Given the description of an element on the screen output the (x, y) to click on. 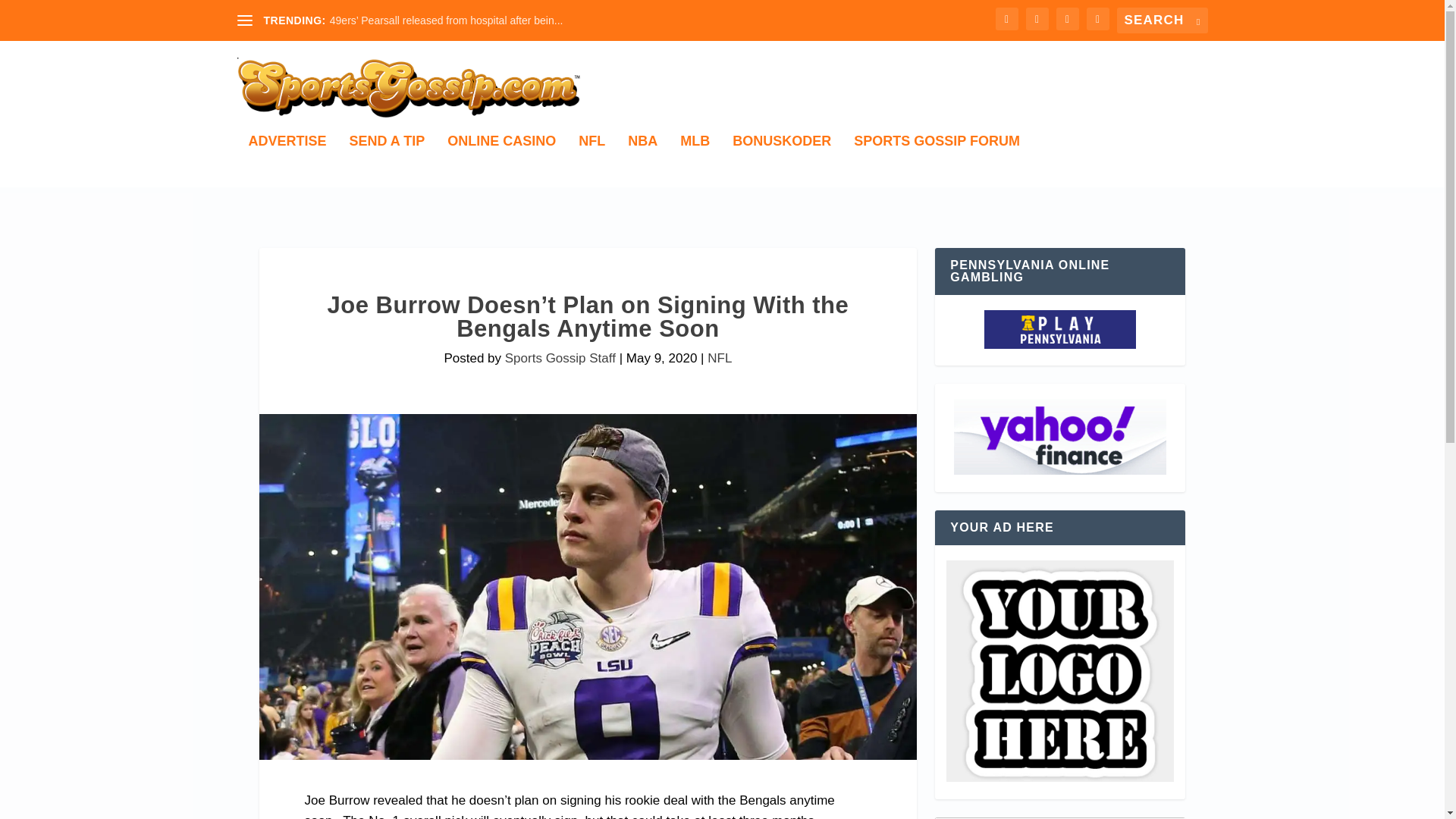
Casinos Not on Gamstop (1059, 437)
BONUSKODER (781, 161)
Search for: (1161, 20)
Posts by Sports Gossip Staff (560, 358)
ONLINE CASINO (501, 161)
SEND A TIP (387, 161)
Sports Gossip Staff (560, 358)
SPORTS GOSSIP FORUM (936, 161)
ADVERTISE (287, 161)
NFL (719, 358)
